Given the description of an element on the screen output the (x, y) to click on. 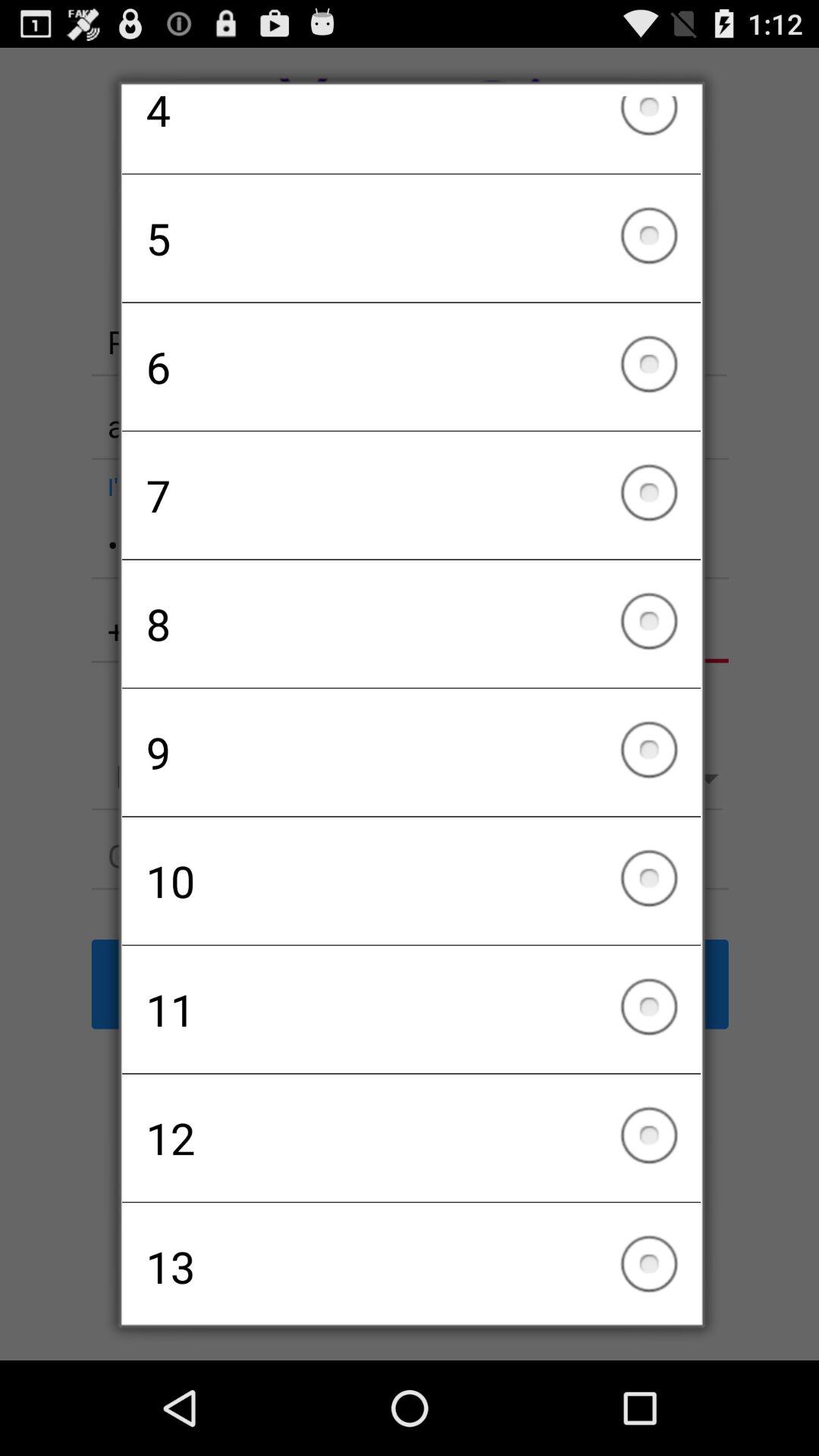
turn off 9 icon (411, 752)
